Given the description of an element on the screen output the (x, y) to click on. 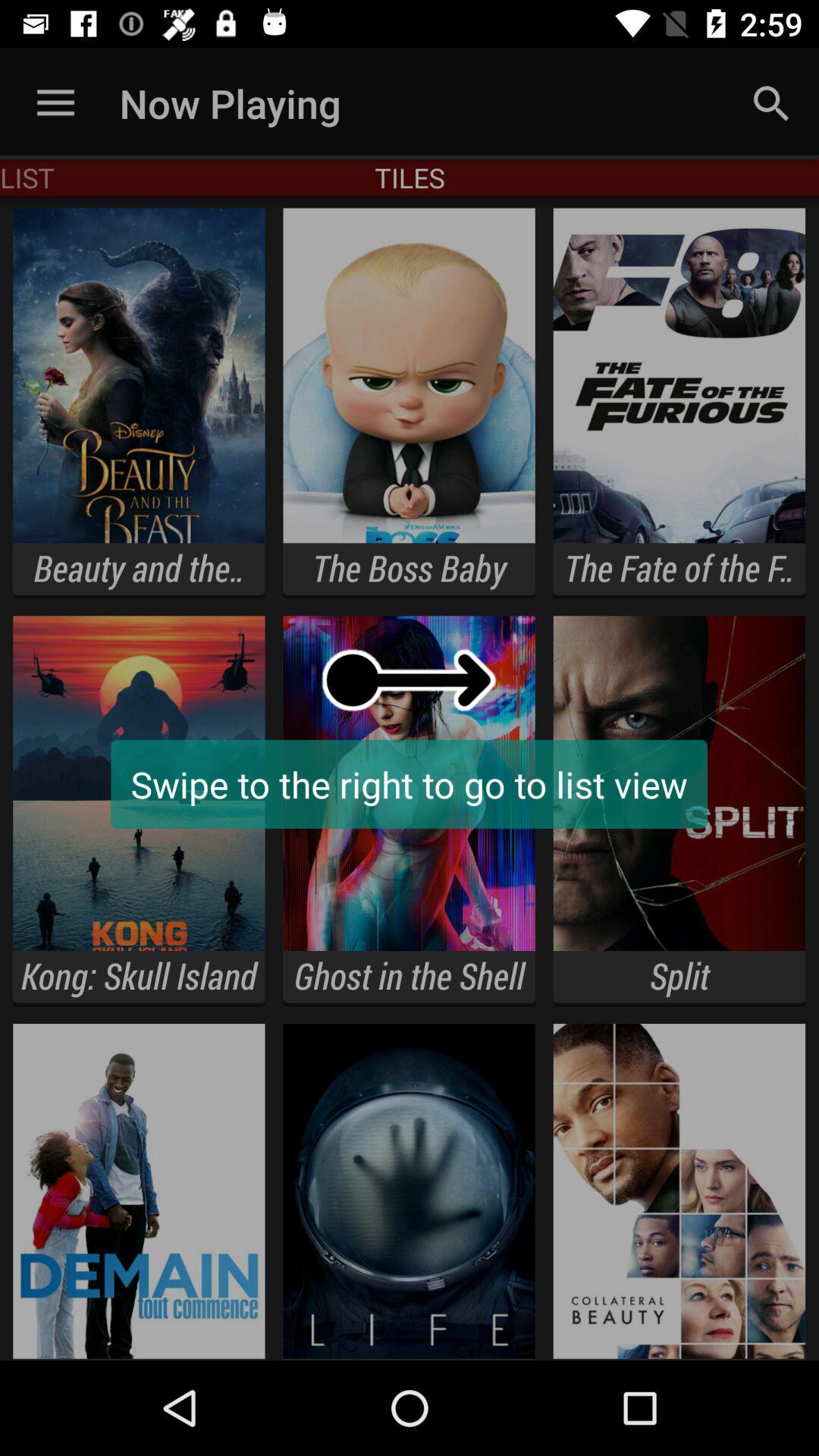
turn on the icon next to tiles app (771, 103)
